Given the description of an element on the screen output the (x, y) to click on. 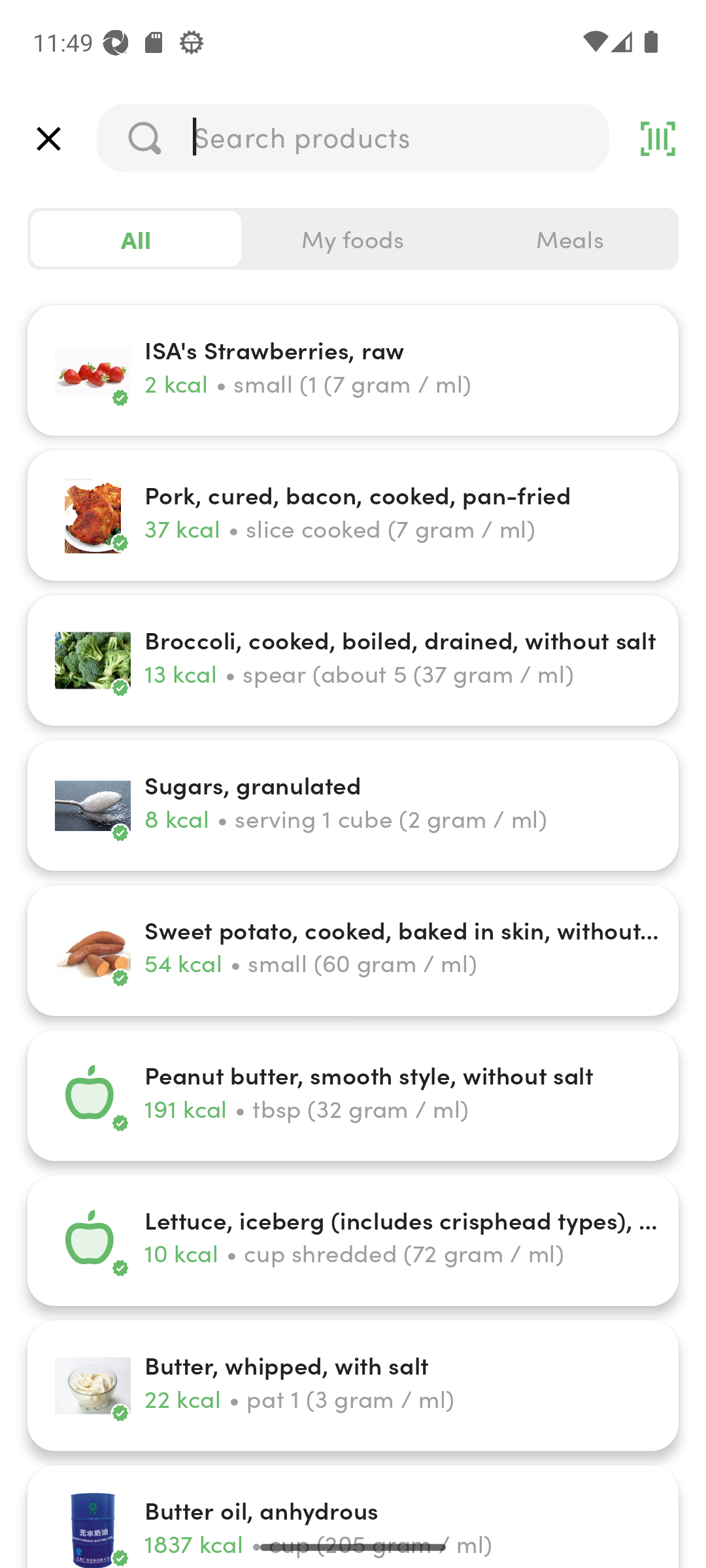
top_left_action (48, 138)
top_right_action (658, 138)
My foods (352, 238)
Meals (569, 238)
